Given the description of an element on the screen output the (x, y) to click on. 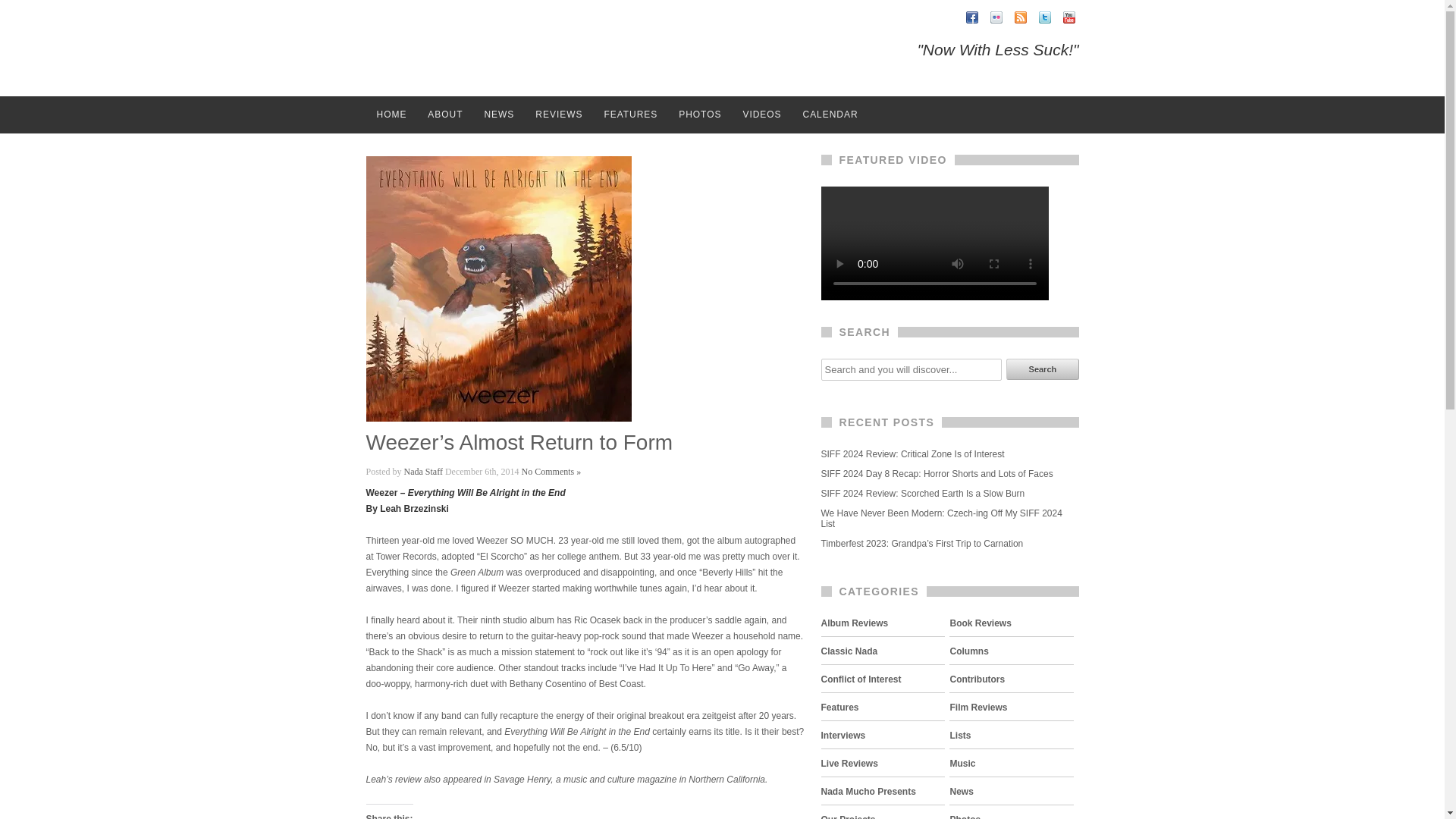
REVIEWS (558, 114)
FEATURES (630, 114)
Nada Mucho (463, 49)
Savage Henry (521, 778)
ABOUT (444, 114)
Posts by Nada Staff (423, 471)
NEWS (498, 114)
PHOTOS (700, 114)
HOME (390, 114)
VIDEOS (762, 114)
CALENDAR (830, 114)
Nada Staff (423, 471)
